Given the description of an element on the screen output the (x, y) to click on. 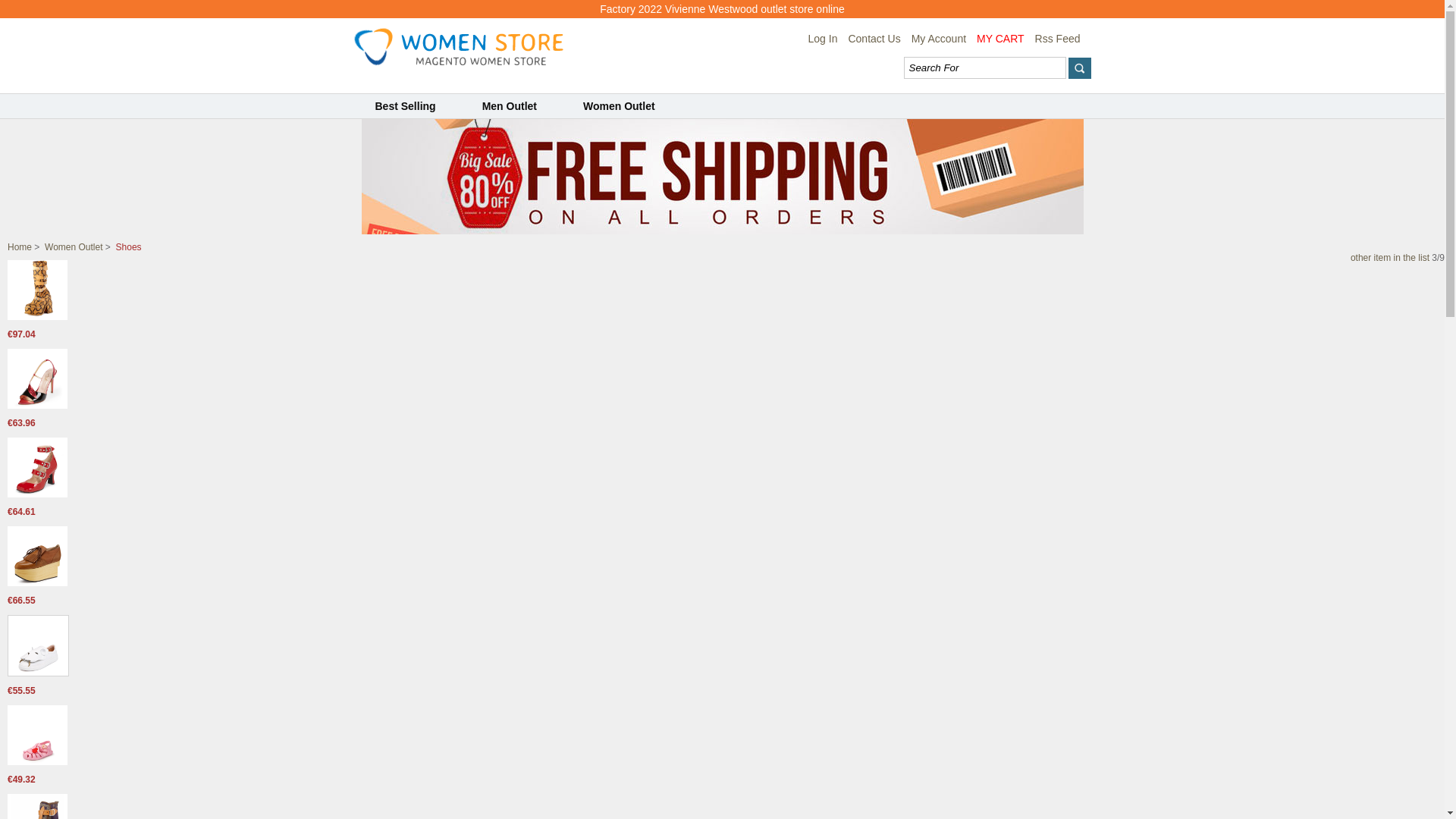
 Vivienne Westwood outlet  Element type: hover (457, 46)
Rss Feed Element type: text (1057, 38)
other item in the list Element type: text (1389, 257)
Shoes Element type: text (128, 246)
Men Outlet Element type: text (509, 106)
Best Selling Element type: text (404, 106)
Women Outlet Element type: text (618, 106)
Home Element type: text (19, 246)
GO Element type: text (1078, 67)
Log In Element type: text (822, 38)
black friday vivienne westwood Element type: hover (721, 230)
Women Vivienne Westwood CLOMPER PIRATE BOOT Outlet Online Element type: hover (37, 290)
Contact Us Element type: text (873, 38)
MY CART Element type: text (1000, 38)
Women Outlet Element type: text (73, 246)
Women Vivienne Westwood CLOMPER PIRATE BOOT Outlet Online Element type: hover (37, 316)
My Account Element type: text (938, 38)
